Given the description of an element on the screen output the (x, y) to click on. 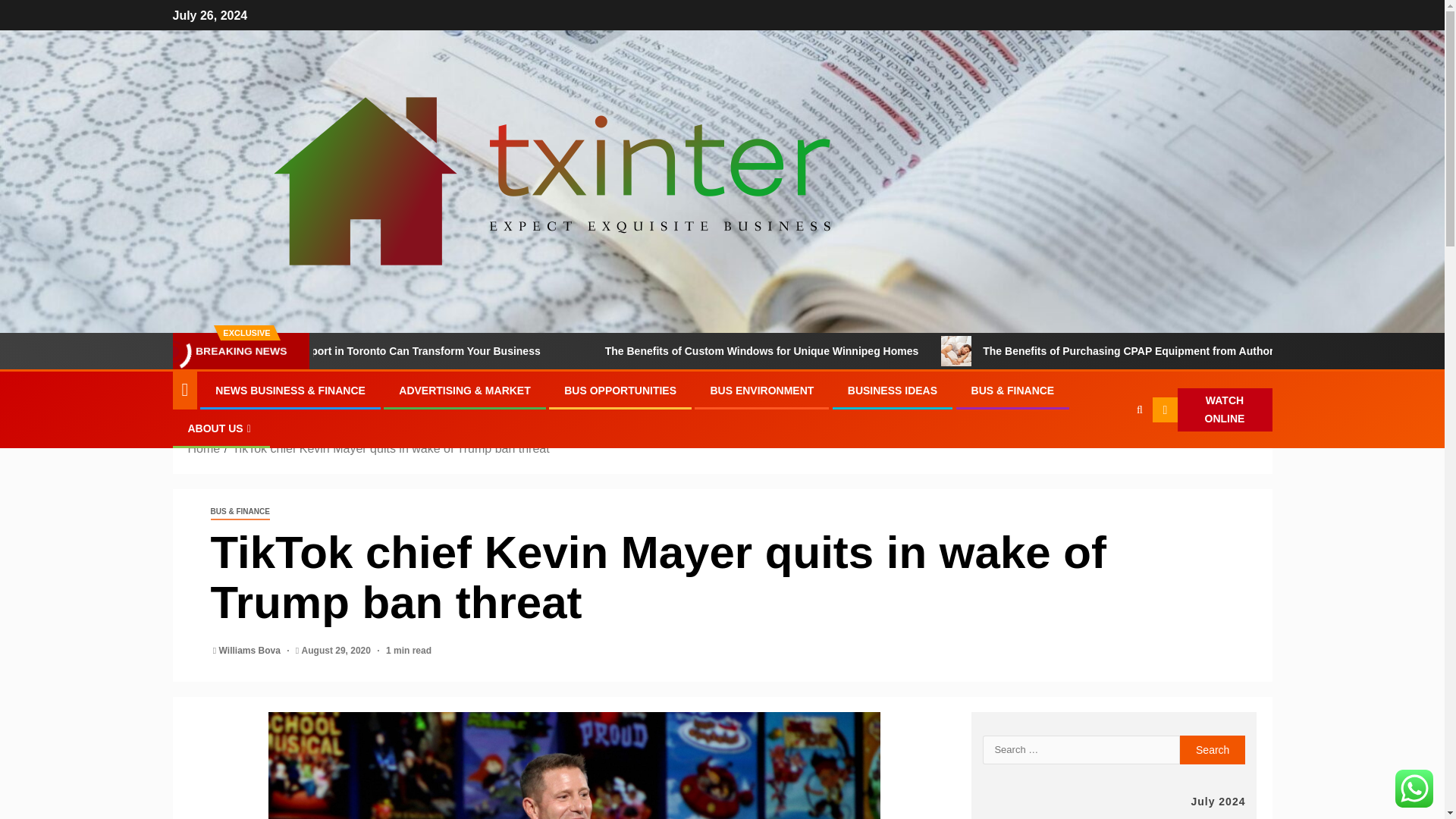
Search (1109, 456)
BUS ENVIRONMENT (761, 390)
Williams Bova (251, 650)
BUSINESS IDEAS (892, 390)
Tuesday (1039, 817)
Home (204, 448)
WATCH ONLINE (1212, 410)
Thursday (1114, 817)
Search (1212, 749)
ABOUT US (220, 428)
Wednesday (1077, 817)
The Benefits of Custom Windows for Unique Winnipeg Homes (879, 350)
Monday (1002, 817)
TikTok chief Kevin Mayer quits in wake of Trump ban threat (389, 448)
Friday (1151, 817)
